Given the description of an element on the screen output the (x, y) to click on. 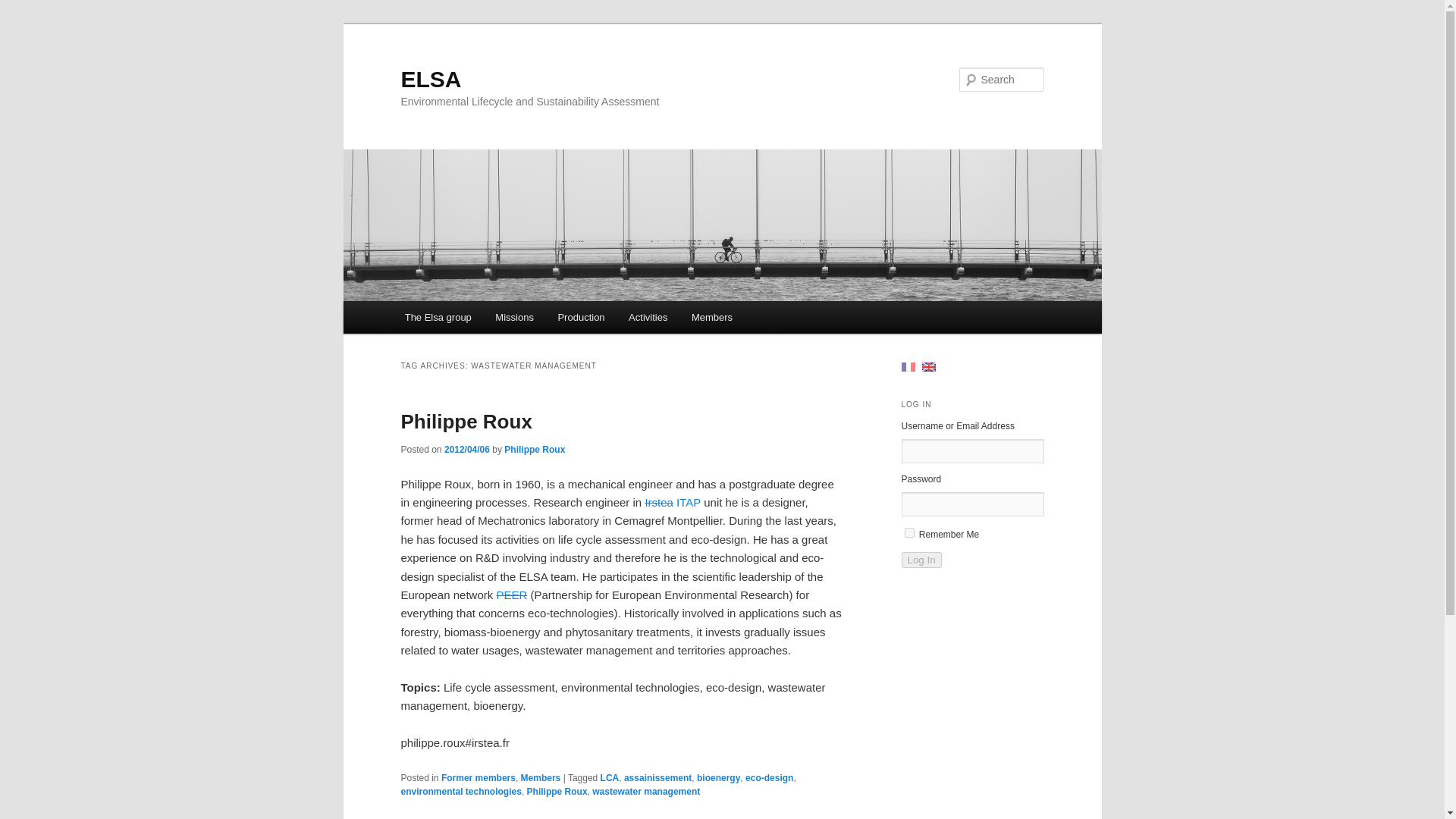
PEER (511, 594)
ITAP (688, 502)
Production (581, 317)
View all posts by Philippe Roux (533, 449)
LCA (609, 777)
Irstea (658, 502)
Philippe Roux (533, 449)
bioenergy (718, 777)
Philippe Roux (557, 791)
assainissement (657, 777)
Former members (478, 777)
Members (711, 317)
environmental technologies (460, 791)
ELSA (430, 78)
